Given the description of an element on the screen output the (x, y) to click on. 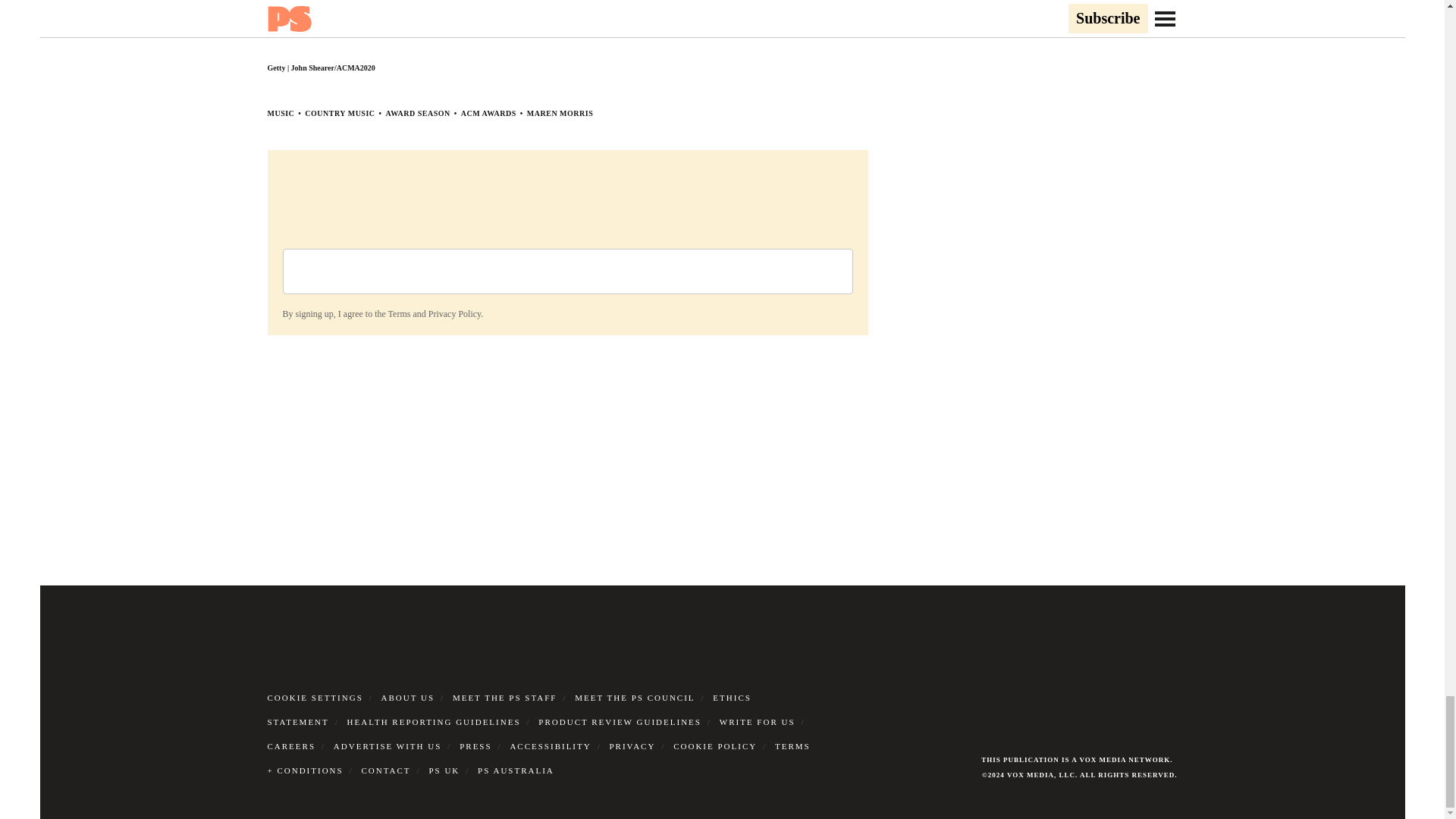
ACM AWARDS (488, 112)
COUNTRY MUSIC (339, 112)
AWARD SEASON (417, 112)
MEET THE PS STAFF (504, 697)
ABOUT US (408, 697)
MUSIC (280, 112)
MAREN MORRIS (559, 112)
Terms (399, 313)
Privacy Policy. (455, 313)
